Given the description of an element on the screen output the (x, y) to click on. 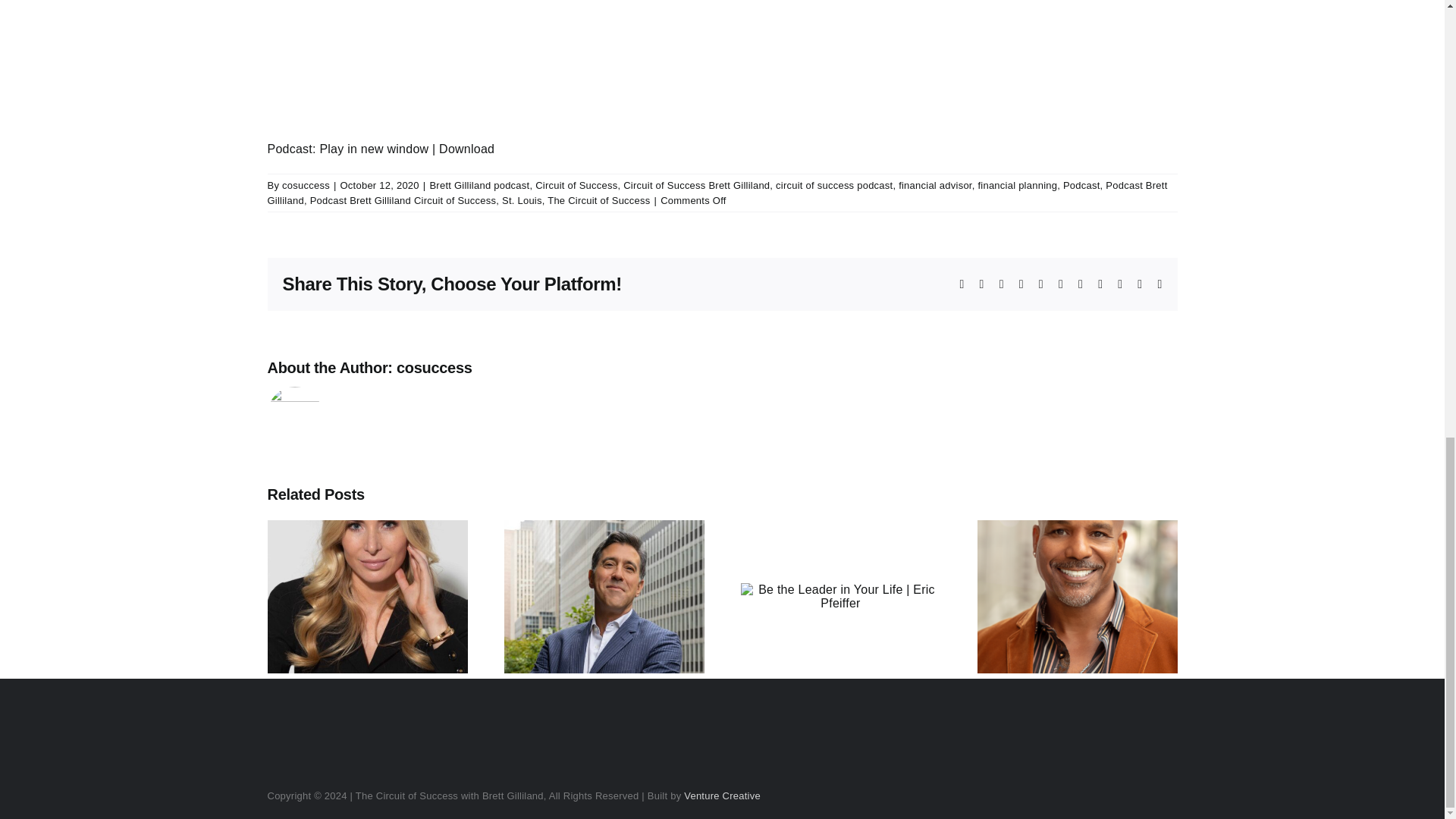
Play in new window (373, 148)
financial advisor (935, 184)
financial planning (1016, 184)
St. Louis (521, 200)
Posts by cosuccess (306, 184)
Play in new window (373, 148)
Circuit of Success Brett Gilliland (696, 184)
Brett Gilliland podcast (479, 184)
cosuccess (306, 184)
Circuit of Success (576, 184)
Podcast Brett Gilliland Circuit of Success (403, 200)
Download (467, 148)
Posts by cosuccess (433, 367)
Podcast (1081, 184)
The Circuit of Success (598, 200)
